Given the description of an element on the screen output the (x, y) to click on. 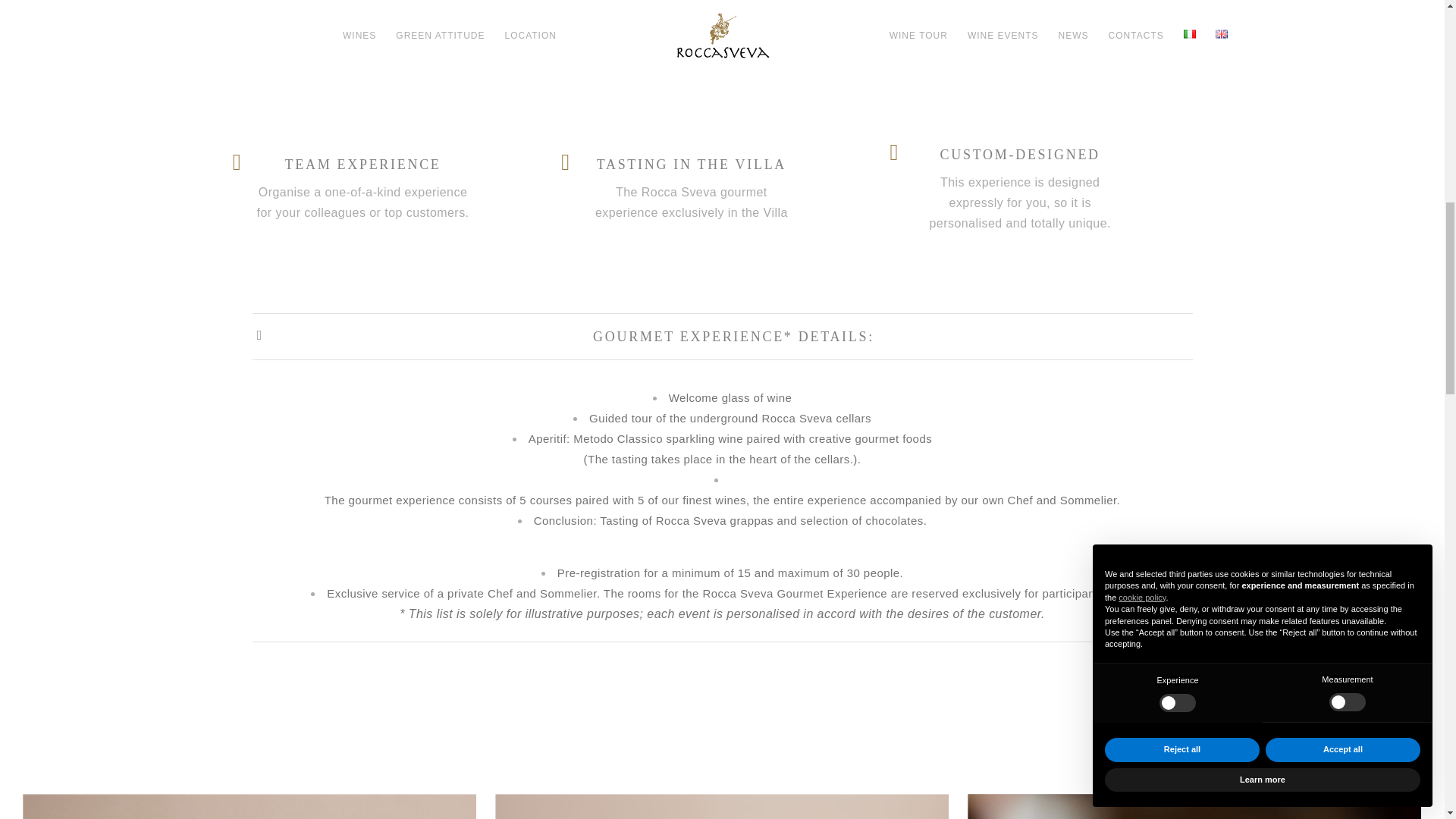
Page 11 (721, 582)
